Given the description of an element on the screen output the (x, y) to click on. 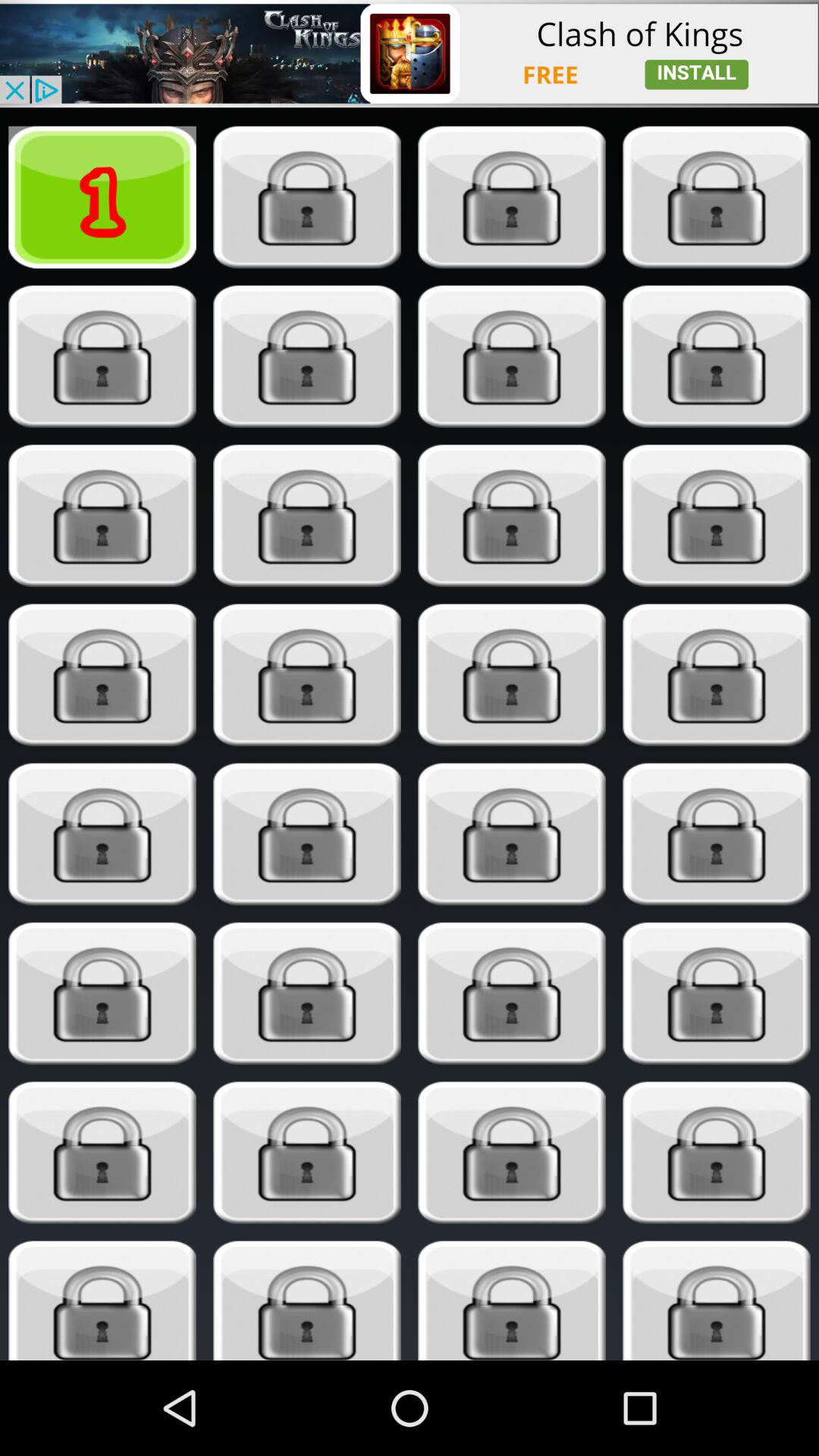
click to unlock (511, 834)
